Given the description of an element on the screen output the (x, y) to click on. 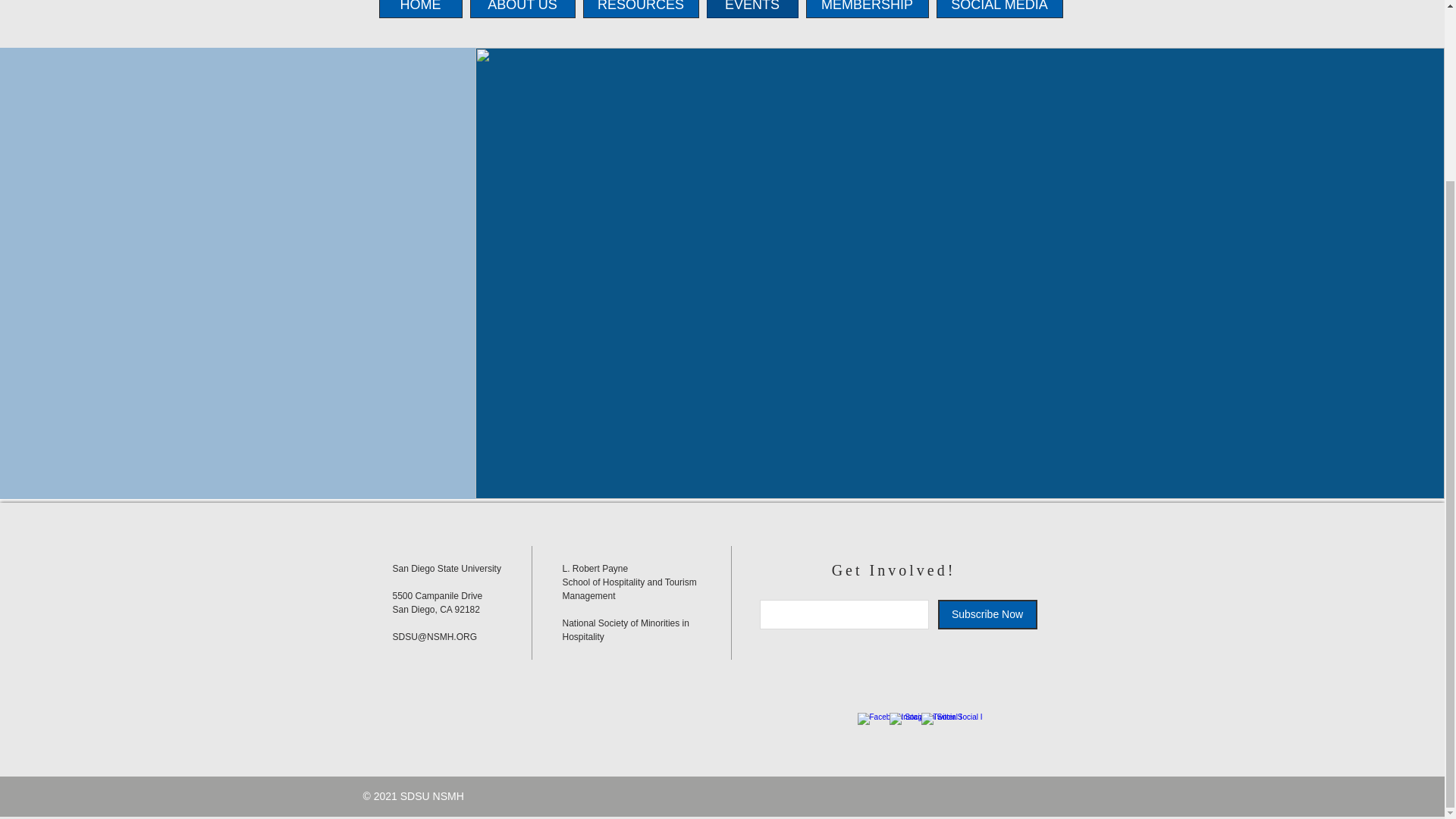
SOCIAL MEDIA (999, 9)
RESOURCES (640, 9)
ABOUT US (522, 9)
HOME (420, 9)
EVENTS (751, 9)
Subscribe Now (986, 614)
MEMBERSHIP (866, 9)
